Given the description of an element on the screen output the (x, y) to click on. 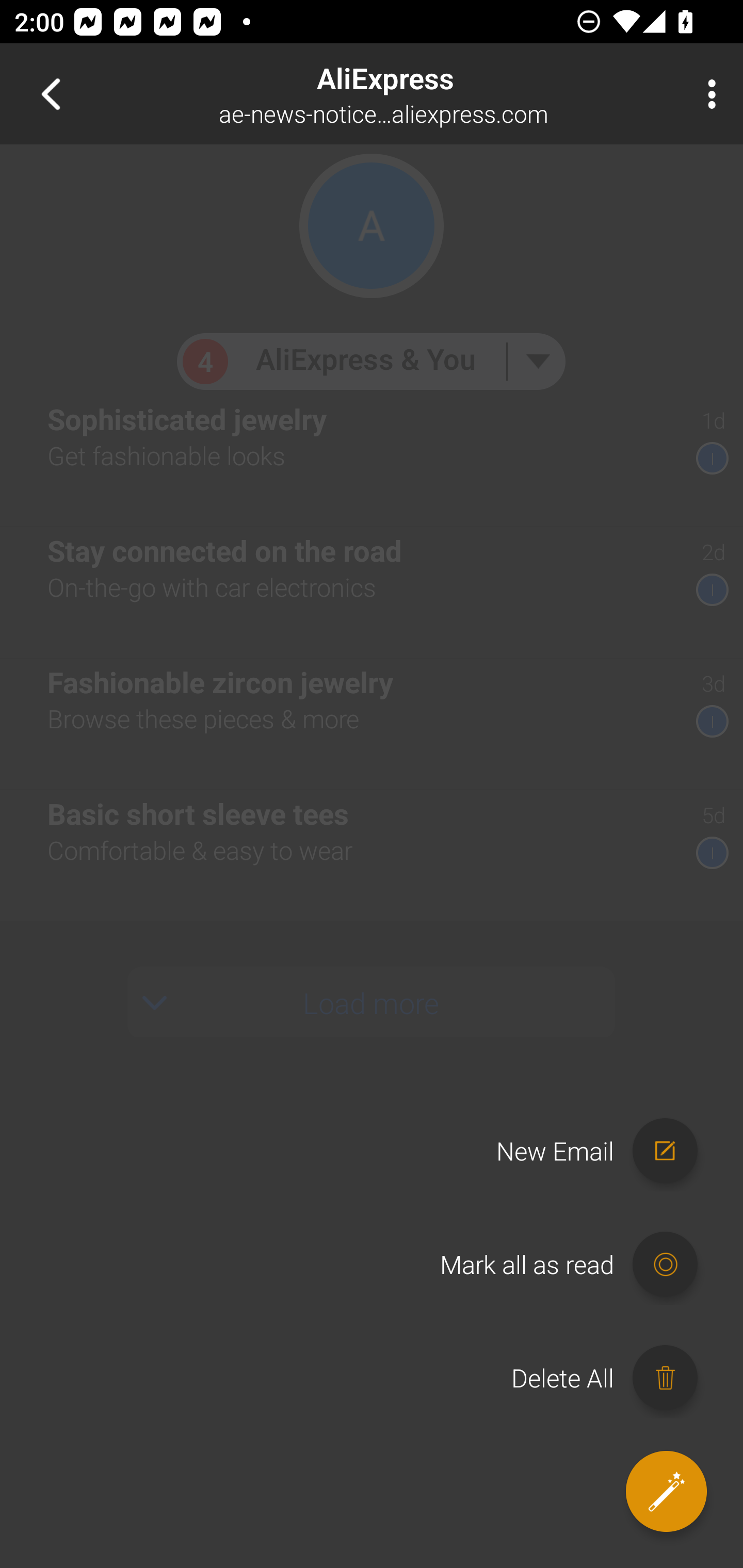
Navigate up (50, 93)
AliExpress ae-news-notice03@mail.aliexpress.com (436, 93)
More Options (706, 93)
New Email (606, 1150)
Mark all as read (577, 1264)
Delete All (613, 1378)
